Given the description of an element on the screen output the (x, y) to click on. 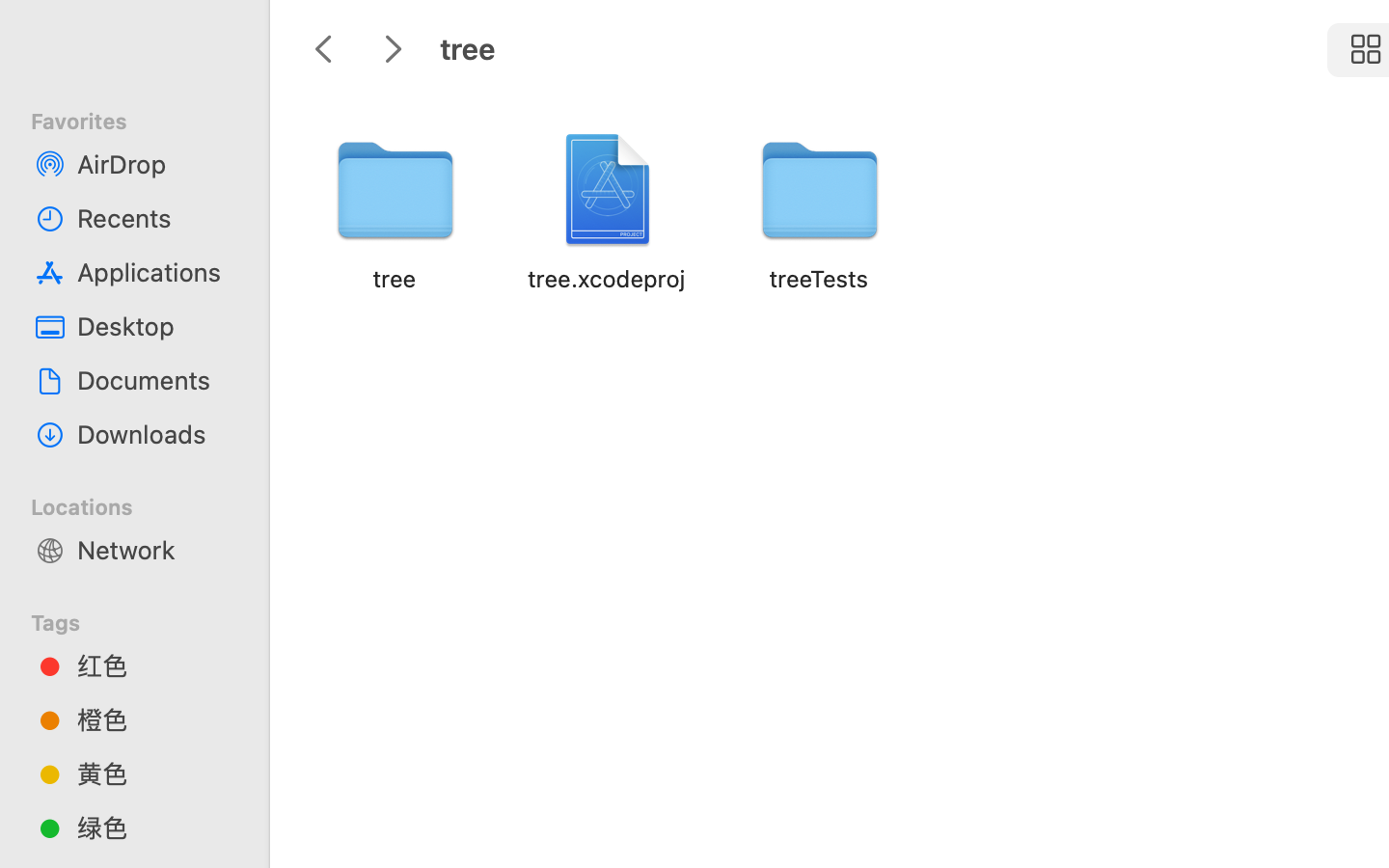
Downloads Element type: AXStaticText (155, 433)
Locations Element type: AXStaticText (145, 504)
Network Element type: AXStaticText (155, 549)
绿色 Element type: AXStaticText (155, 827)
